Given the description of an element on the screen output the (x, y) to click on. 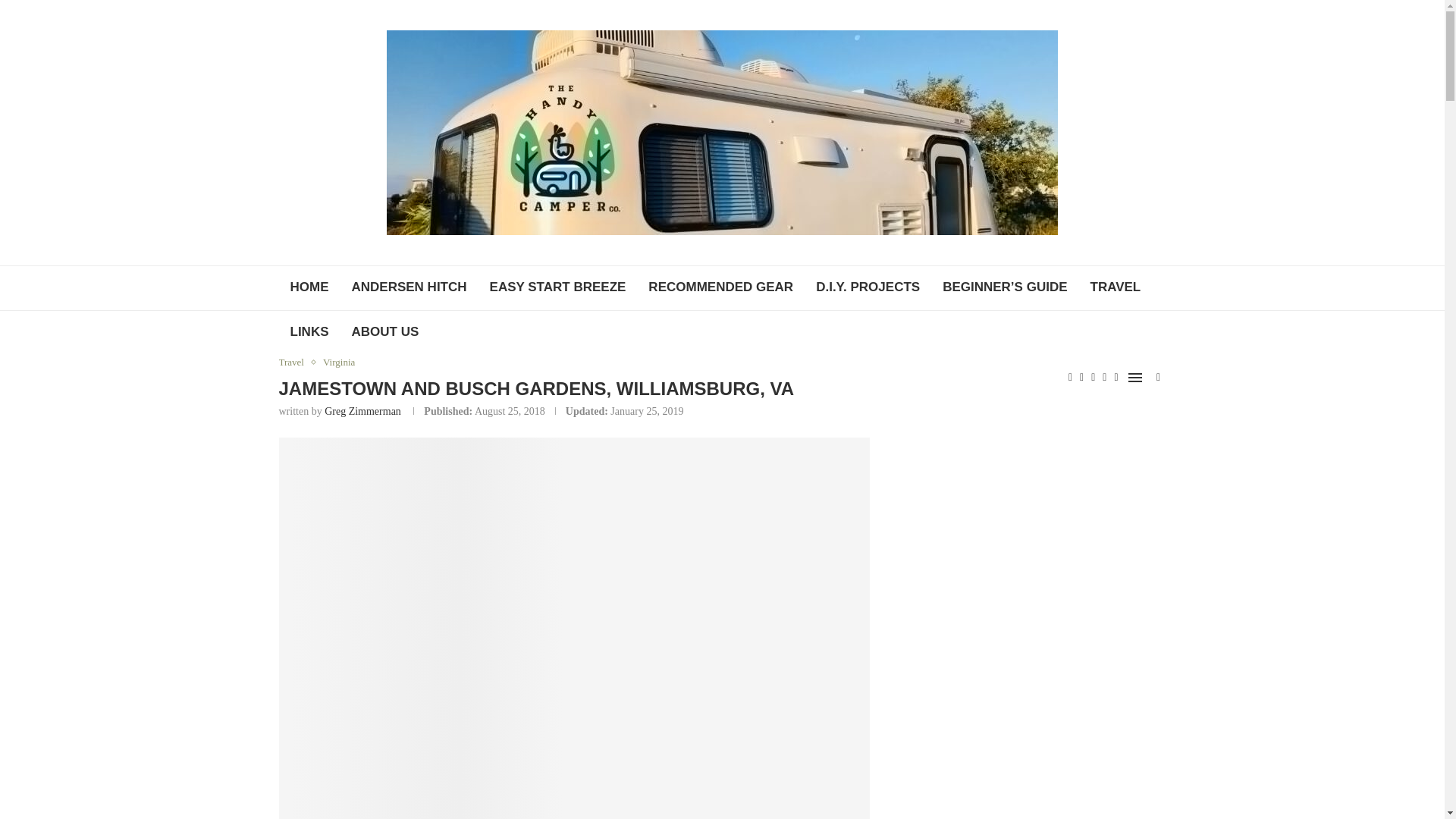
ABOUT US (384, 332)
RECOMMENDED GEAR (721, 288)
D.I.Y. PROJECTS (868, 288)
Virginia (339, 362)
ANDERSEN HITCH (408, 288)
LINKS (309, 332)
HOME (309, 288)
EASY START BREEZE (558, 288)
Greg Zimmerman (362, 410)
TRAVEL (1114, 288)
